Given the description of an element on the screen output the (x, y) to click on. 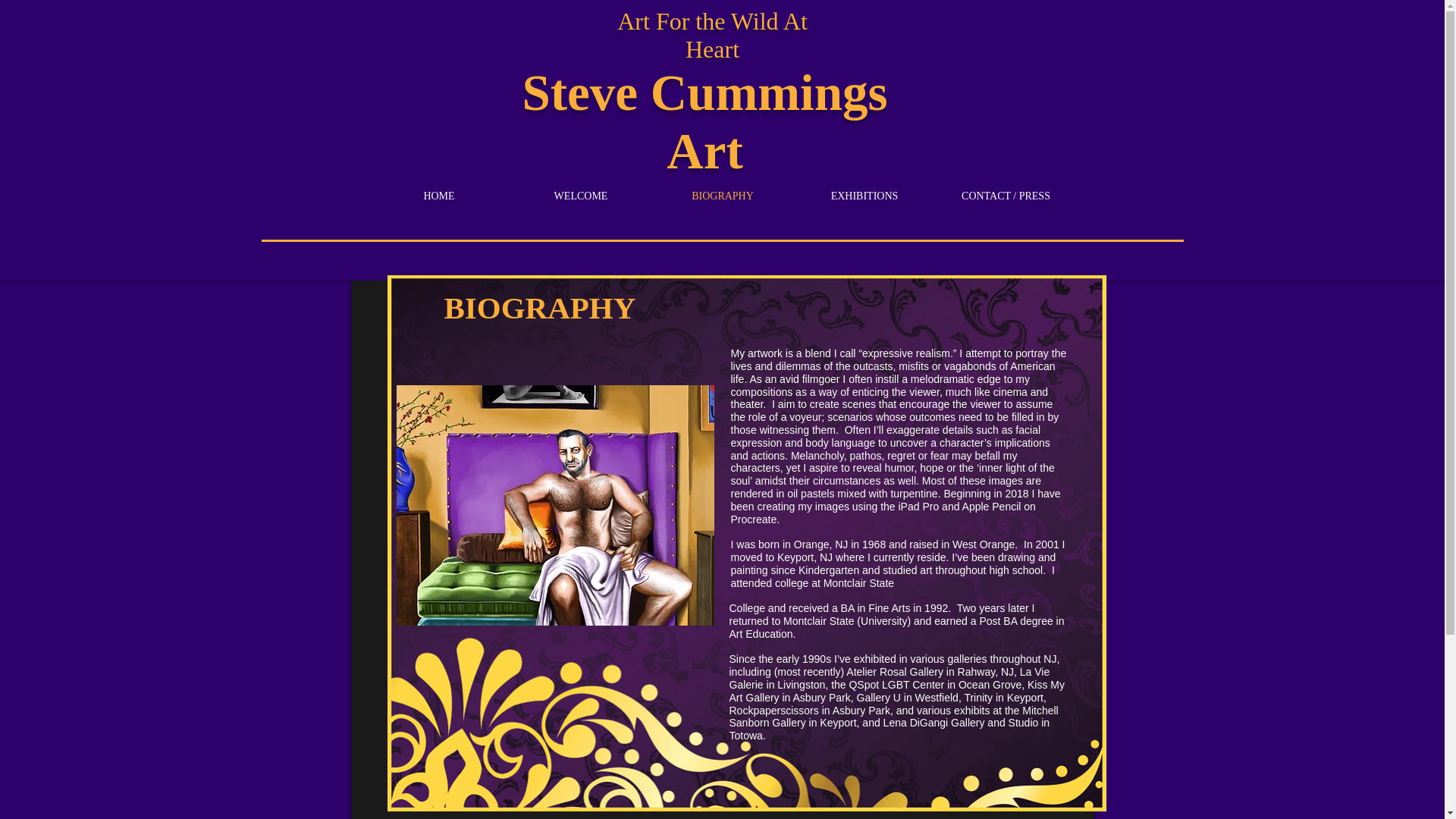
HOME (439, 196)
WELCOME (579, 196)
BIOGRAPHY (722, 196)
EXHIBITIONS (863, 196)
